Given the description of an element on the screen output the (x, y) to click on. 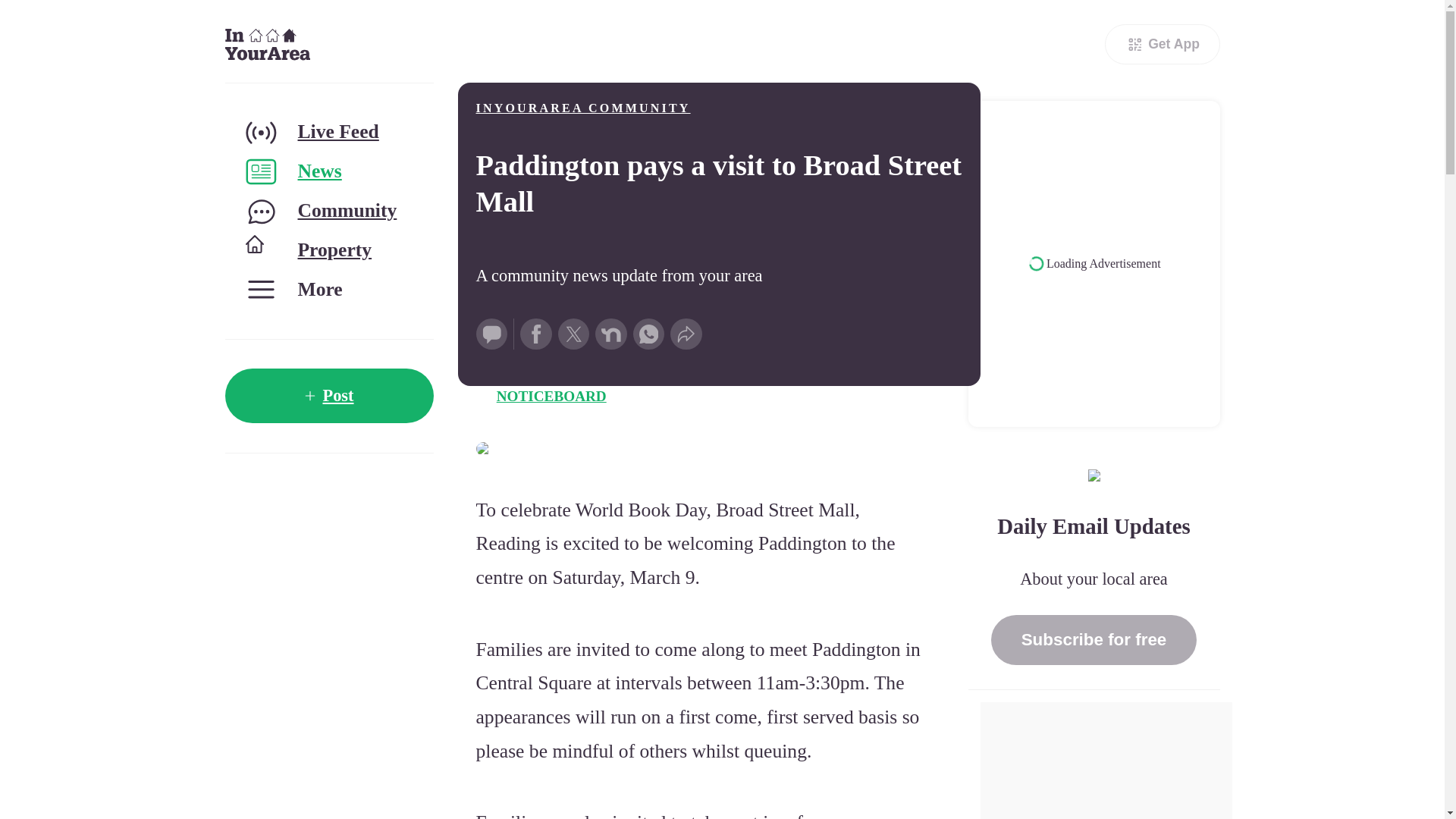
Live Feed (328, 132)
Property (328, 250)
News (328, 171)
Share to X (573, 334)
Get App (1162, 44)
Post (328, 395)
INYOURAREA COMMUNITY (583, 107)
Share to Whatsapp (649, 334)
Get App (1162, 44)
Social Button (492, 334)
Share to Facebook (535, 334)
Share to ... (685, 334)
Share to Nextdoor (611, 334)
Community (328, 210)
